Given the description of an element on the screen output the (x, y) to click on. 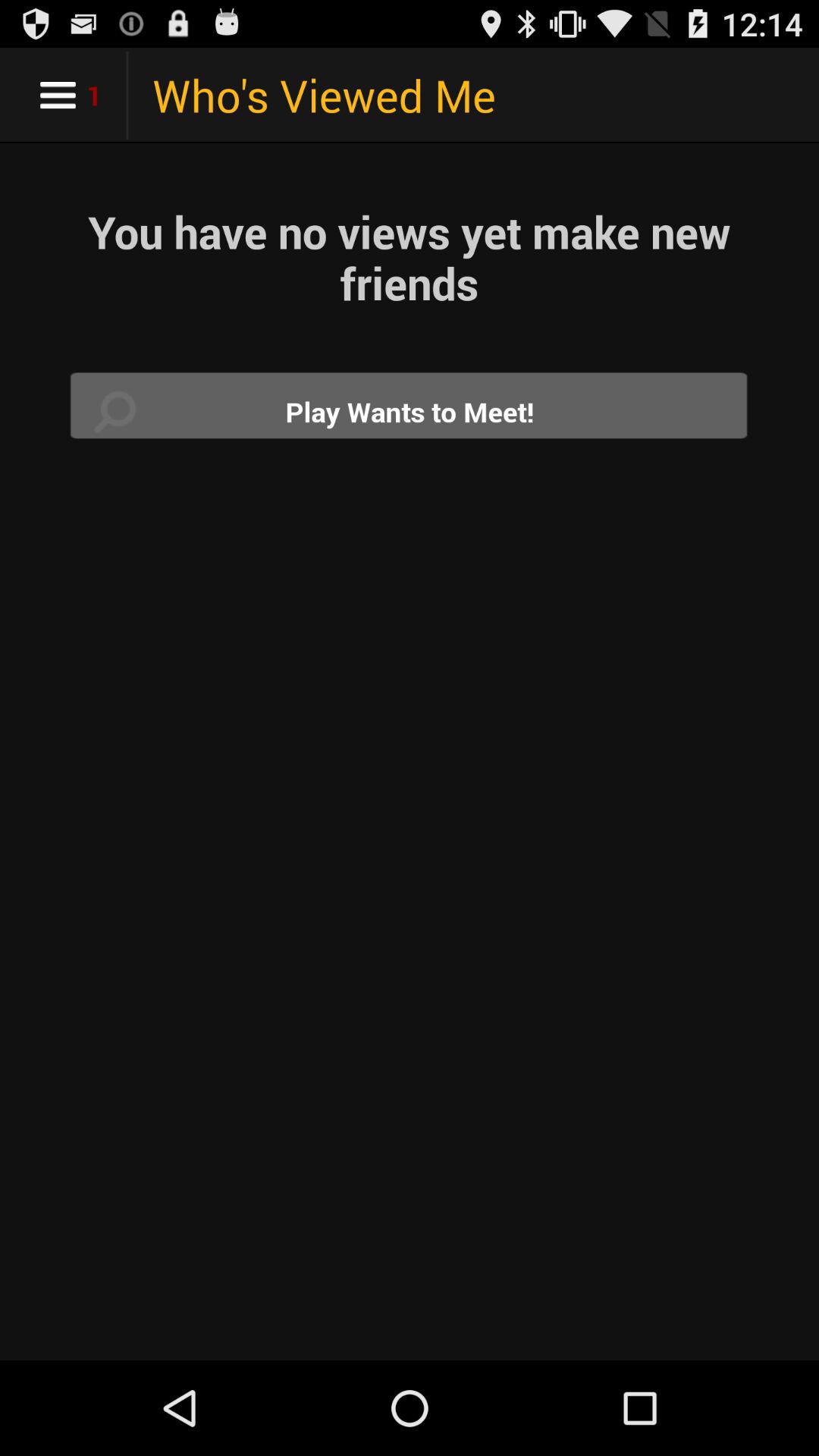
go to play wants to meet (409, 411)
